Given the description of an element on the screen output the (x, y) to click on. 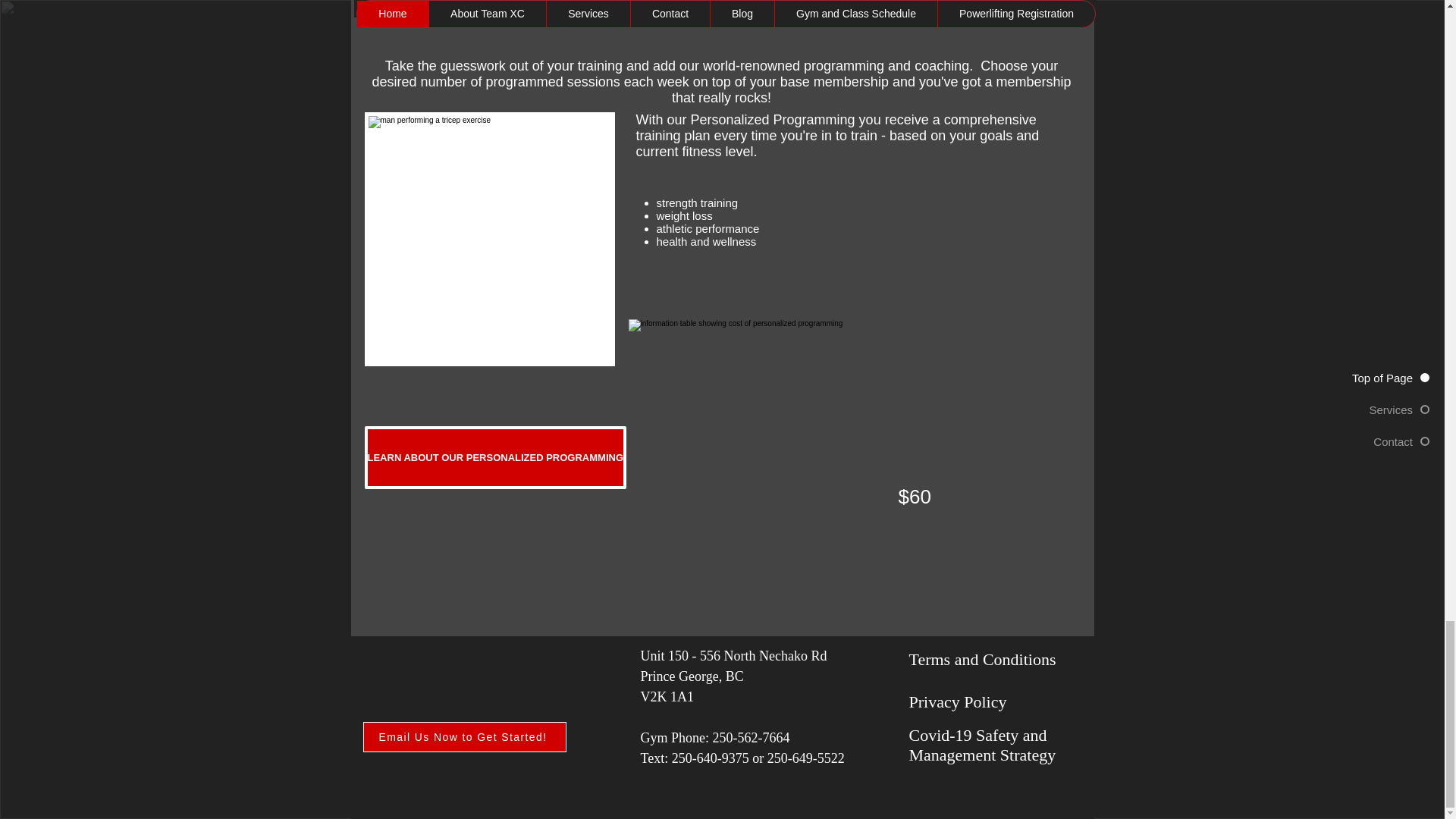
Covid-19 Safety and Management Strategy (981, 744)
Privacy Policy (957, 701)
Terms and Conditions (981, 659)
Email Us Now to Get Started! (464, 736)
LEARN ABOUT OUR PERSONALIZED PROGRAMMING (495, 456)
